Given the description of an element on the screen output the (x, y) to click on. 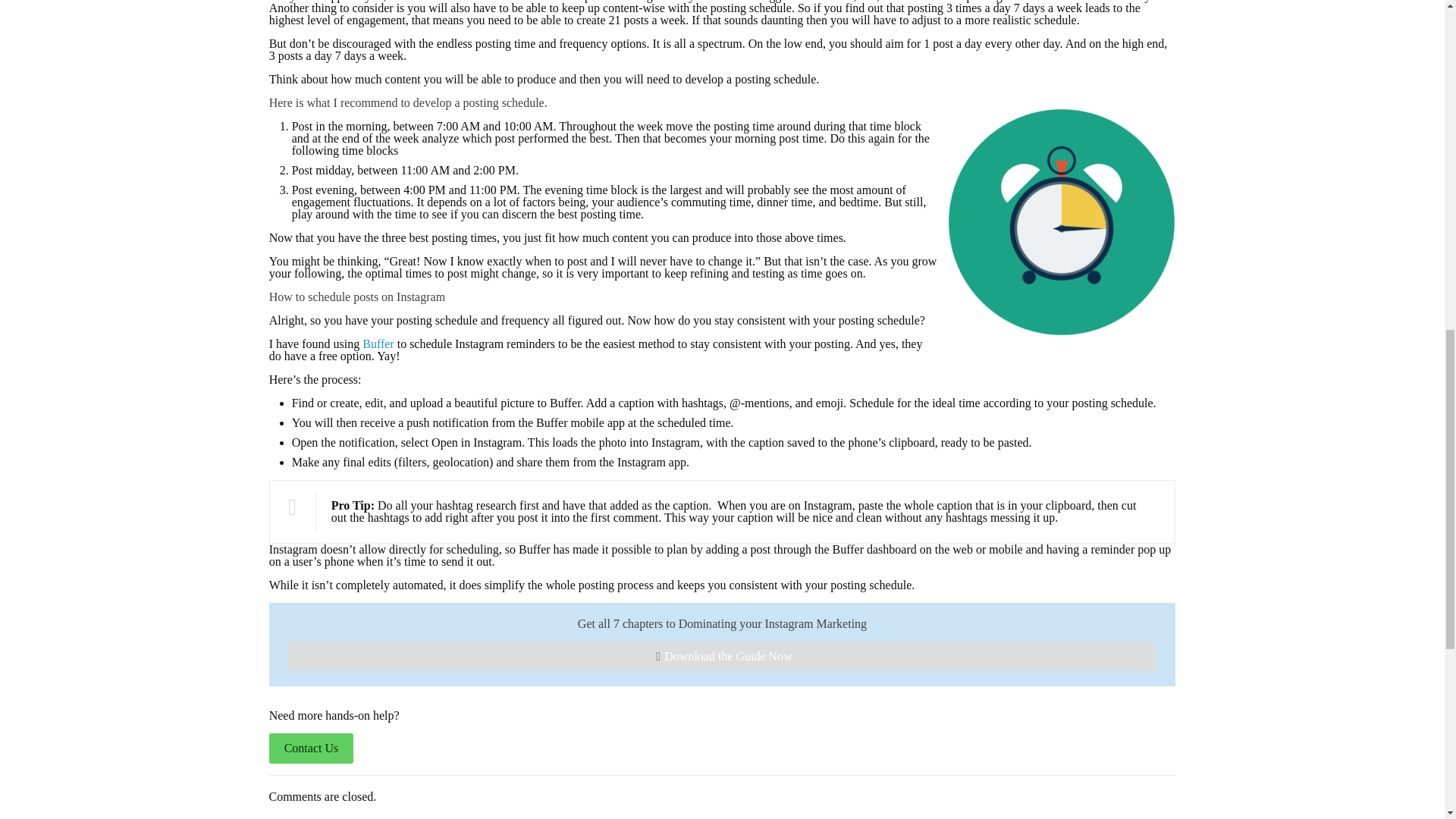
Buffer (377, 343)
Download the Guide Now (722, 655)
Contact Us (311, 747)
